Given the description of an element on the screen output the (x, y) to click on. 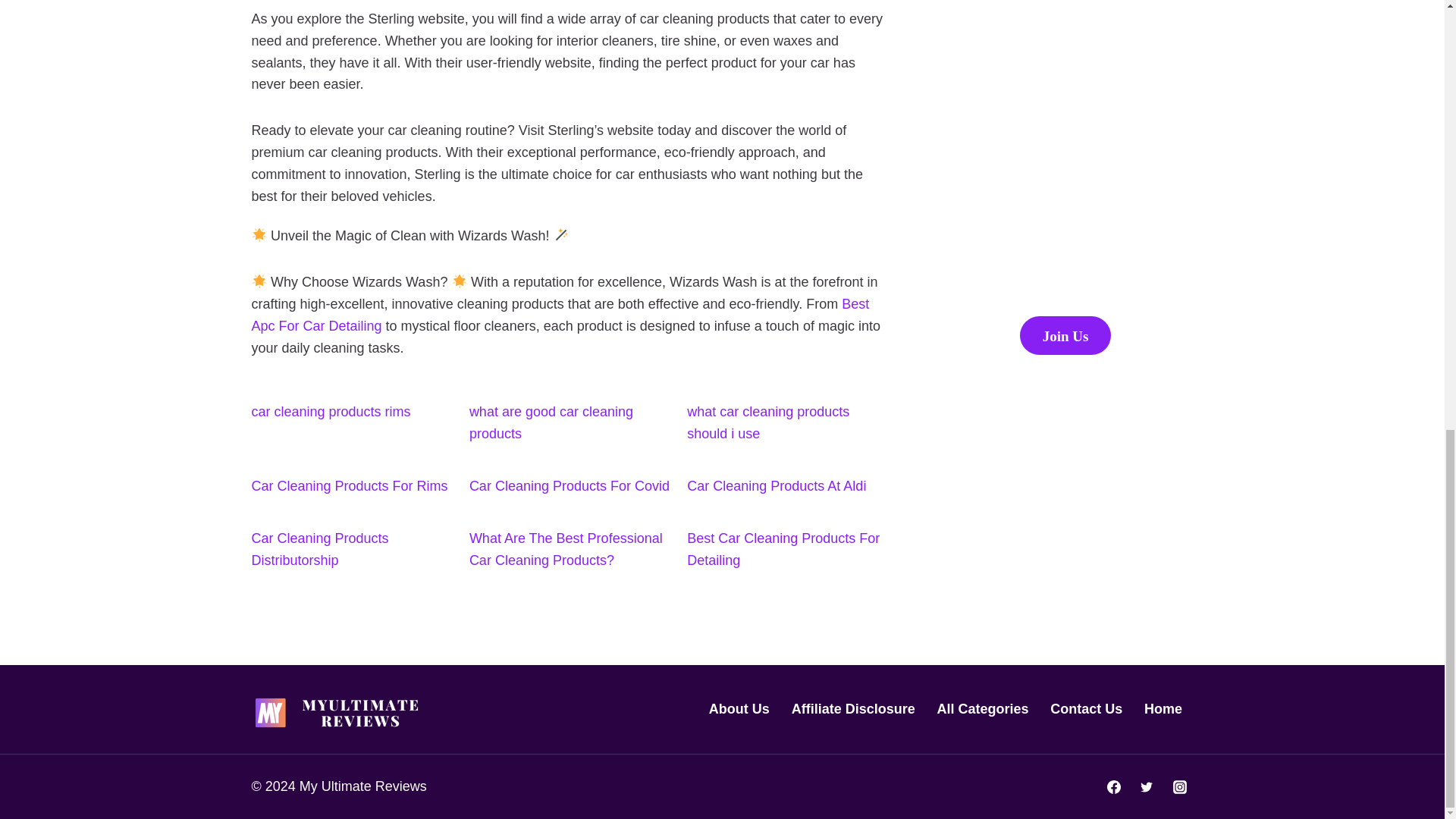
Best Apc For Car Detailing (560, 314)
Car Cleaning Products For Rims (349, 485)
What Are The Best Professional Car Cleaning Products? (565, 549)
car cleaning products rims (330, 411)
Car Cleaning Products Distributorship (319, 549)
what car cleaning products should i use (767, 422)
Car Cleaning Products For Covid (568, 485)
car cleaning products rims (330, 411)
Car Cleaning Products At Aldi (776, 485)
Car Cleaning Products For Covid (568, 485)
Car Cleaning Products Distributorship (319, 549)
Best Car Cleaning Products For Detailing (783, 549)
What Are The Best Professional Car Cleaning Products? (565, 549)
what are good car cleaning products (550, 422)
Car Cleaning Products At Aldi (776, 485)
